Given the description of an element on the screen output the (x, y) to click on. 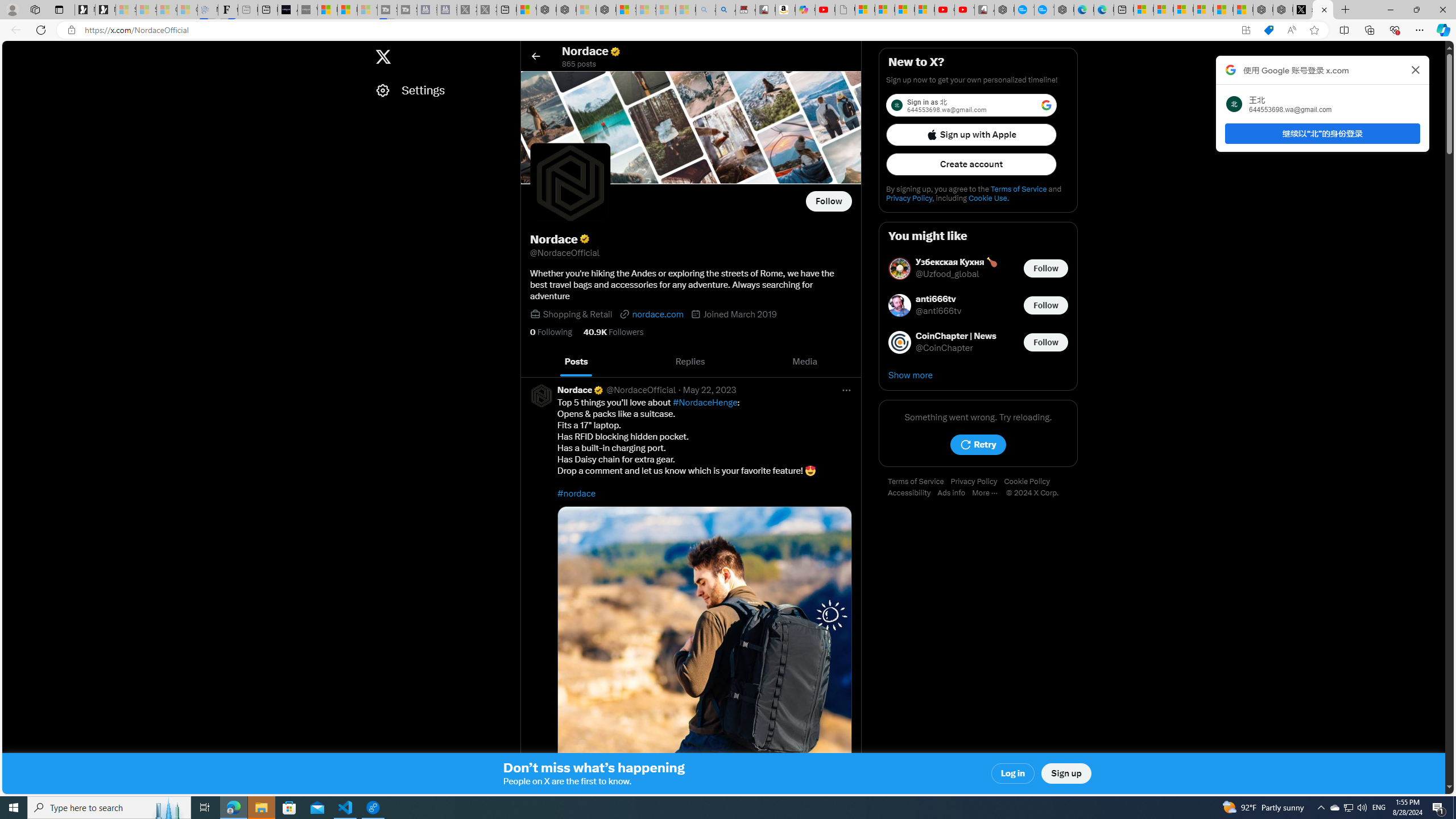
Nordace - My Account (1004, 9)
Follow @Uzfood_global (1045, 267)
Image (704, 653)
Nordace (@NordaceOfficial) / X (1322, 9)
Follow @CoinChapter (1045, 341)
Log in (1013, 773)
Square profile picture and Opens profile photo (570, 182)
